Given the description of an element on the screen output the (x, y) to click on. 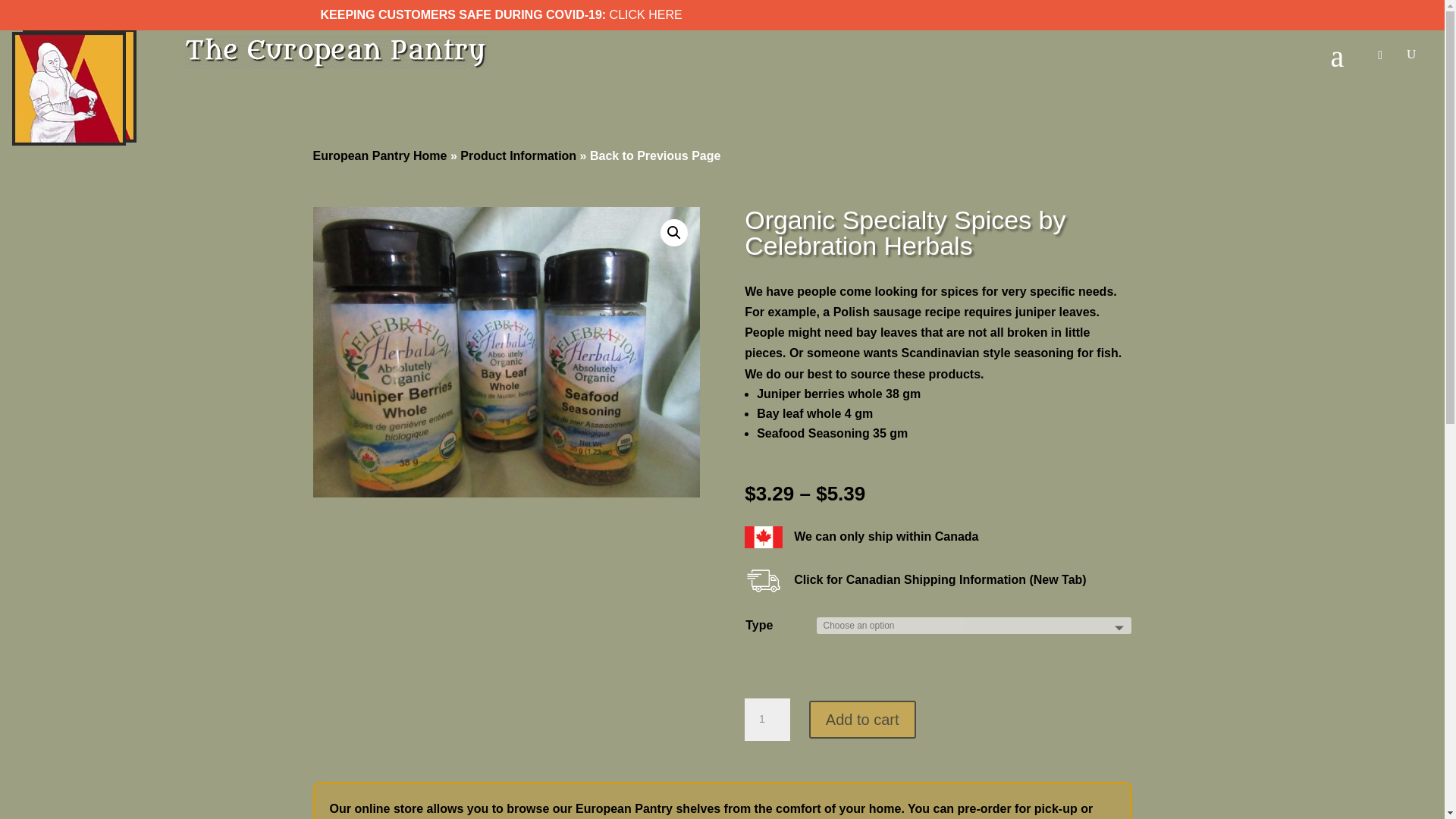
1 (767, 719)
Organic Misc Spices (505, 352)
CLICK HERE (646, 14)
